Given the description of an element on the screen output the (x, y) to click on. 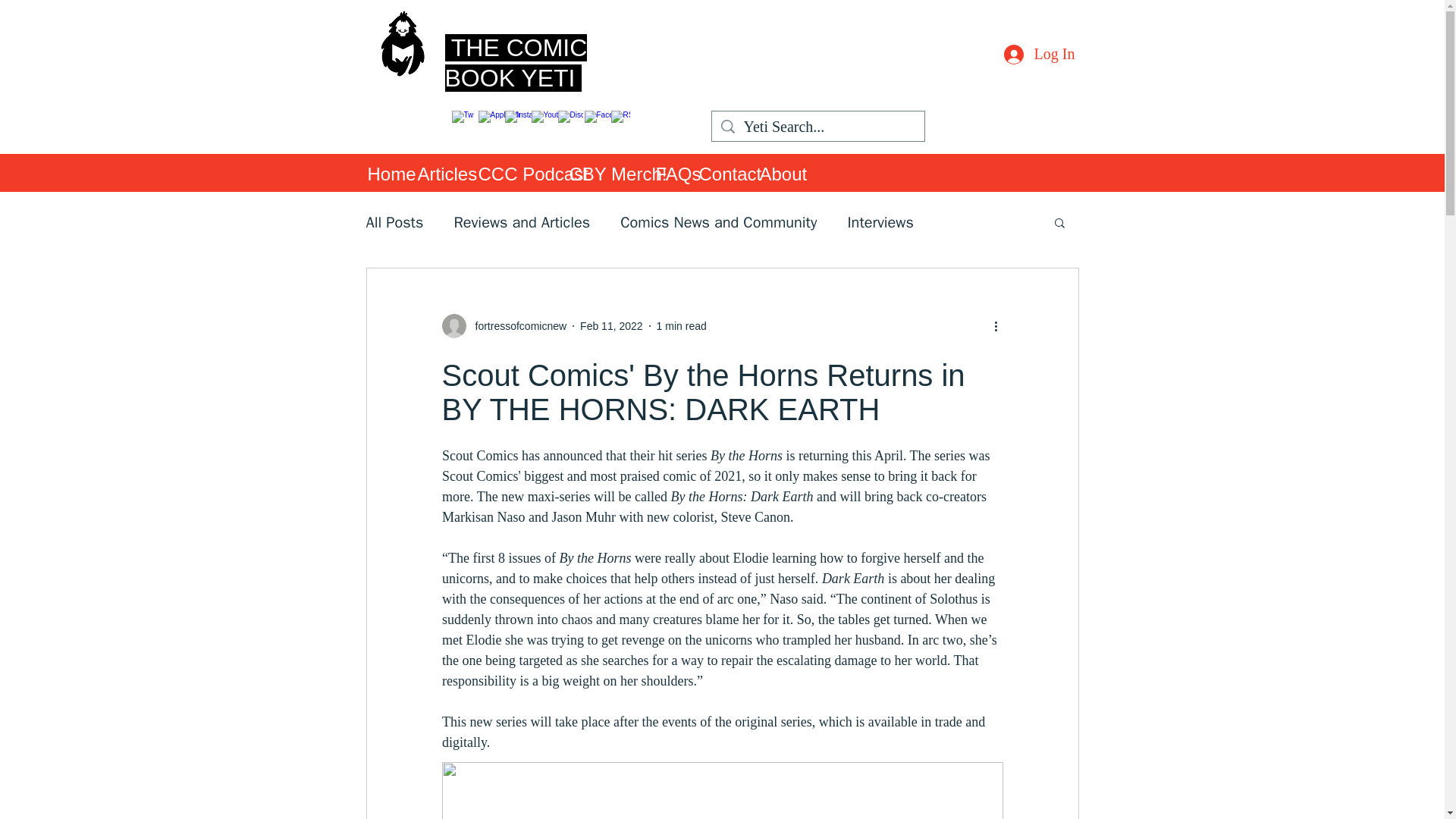
About (777, 172)
fortressofcomicnew (515, 326)
CCC Podcast (515, 172)
All Posts (394, 222)
fortressofcomicnew (503, 325)
Interviews (879, 222)
Articles (439, 172)
Home (384, 172)
CBY Merch! (603, 172)
Comics News and Community (718, 222)
